Given the description of an element on the screen output the (x, y) to click on. 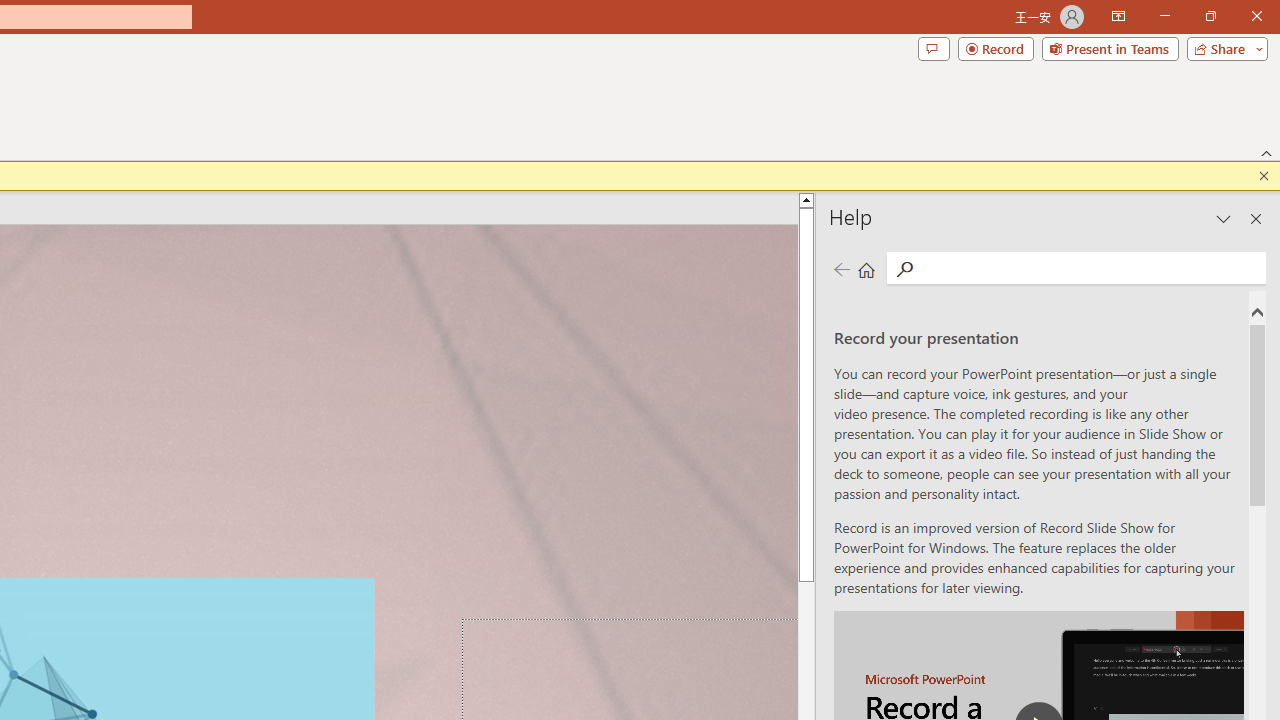
Close this message (1263, 176)
Previous page (841, 269)
